Given the description of an element on the screen output the (x, y) to click on. 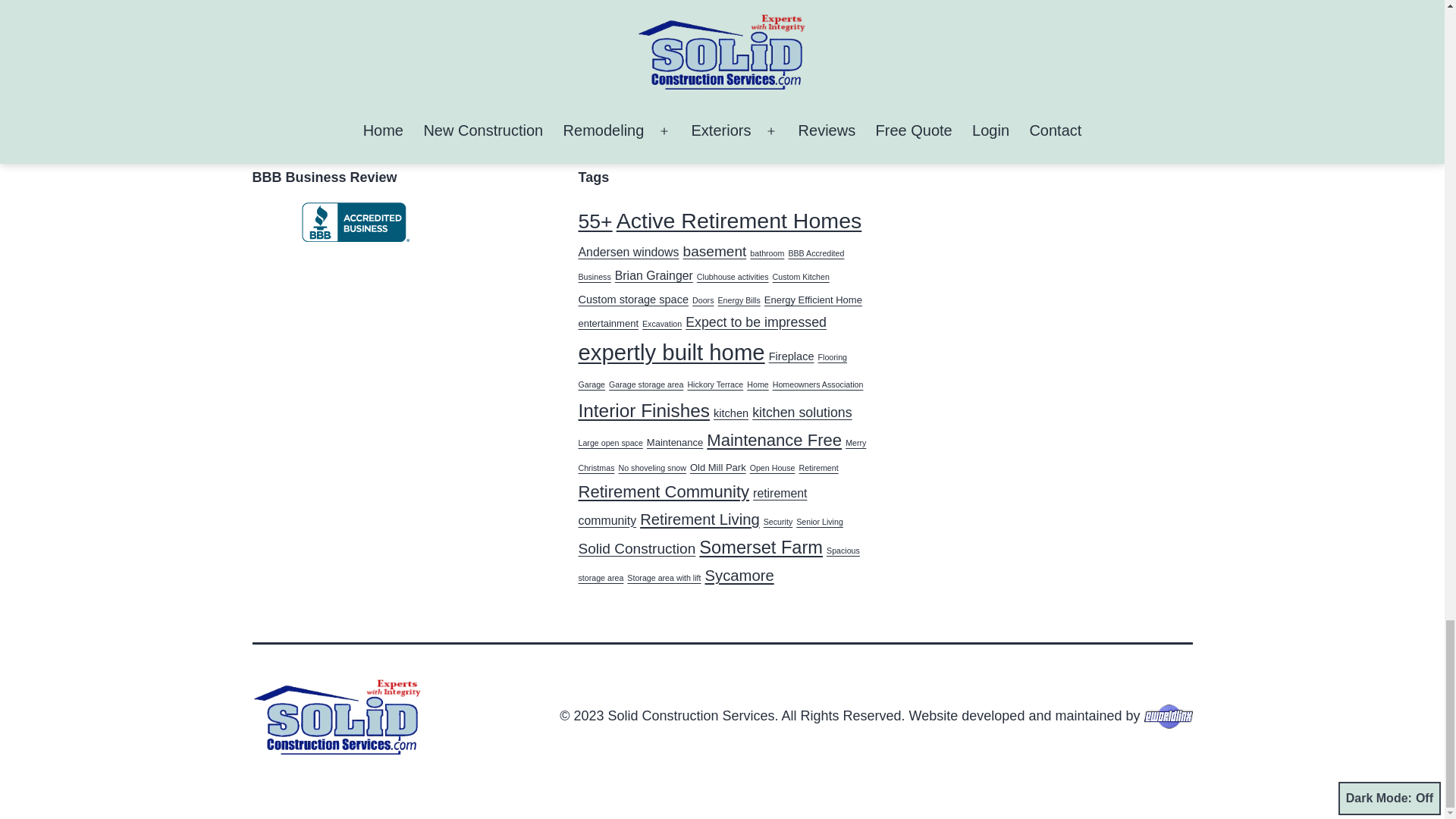
Clubhouse activities (732, 276)
Active Retirement Homes (738, 220)
Andersen windows (628, 251)
Brian Grainger (653, 275)
Energy Bills (738, 299)
bathroom (766, 252)
Custom Kitchen (801, 276)
Energy Bills (884, 2)
BBB Accredited Business (711, 264)
basement (714, 251)
expertly built home (898, 2)
entertainment (608, 323)
Custom storage space (633, 299)
Doors (703, 299)
Energy Efficient Home (812, 299)
